Given the description of an element on the screen output the (x, y) to click on. 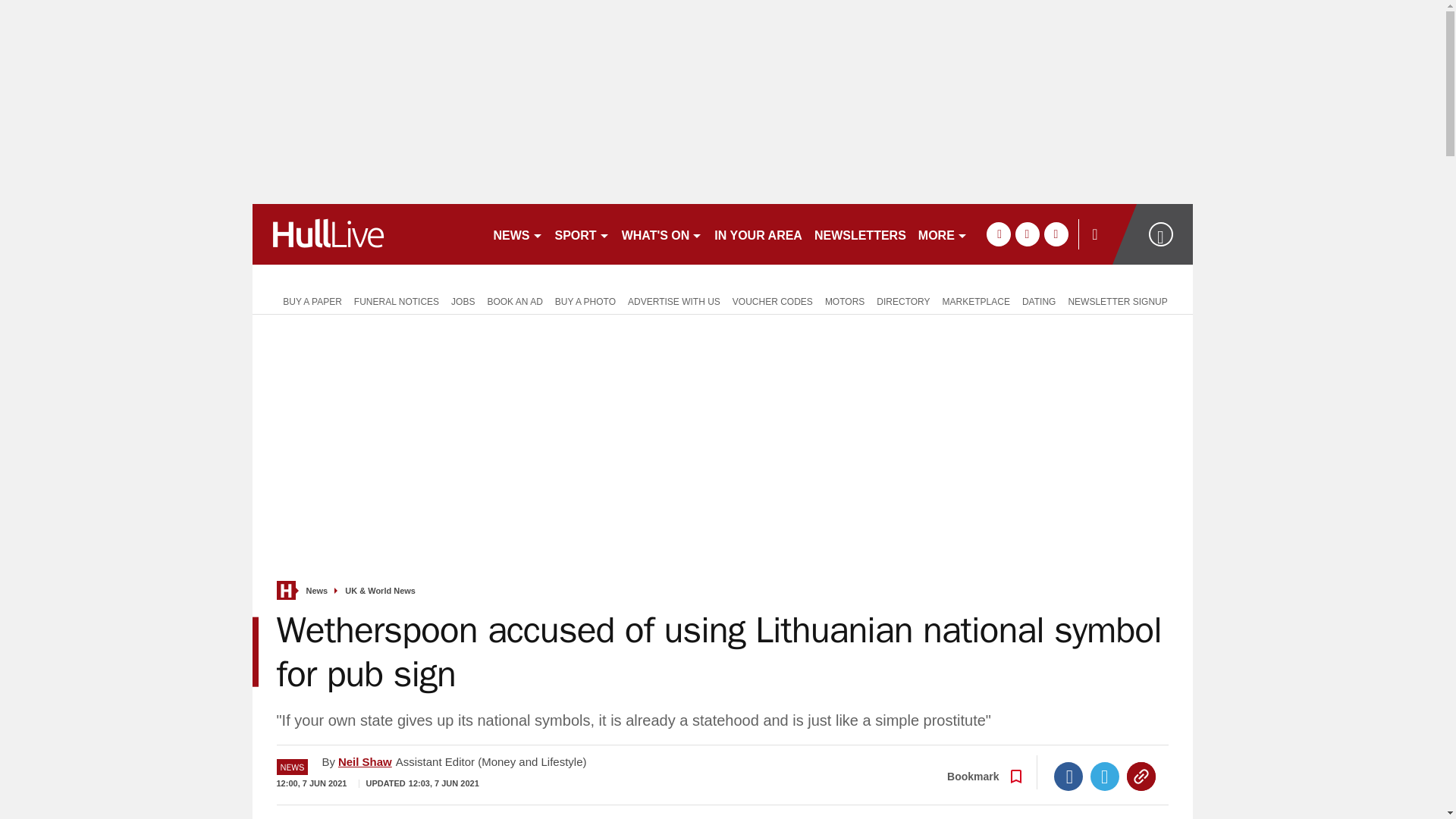
NEWS (517, 233)
Twitter (1104, 776)
IN YOUR AREA (757, 233)
instagram (1055, 233)
Facebook (1068, 776)
NEWSLETTERS (860, 233)
facebook (997, 233)
WHAT'S ON (662, 233)
MORE (943, 233)
hulldailymail (365, 233)
twitter (1026, 233)
SPORT (581, 233)
